Given the description of an element on the screen output the (x, y) to click on. 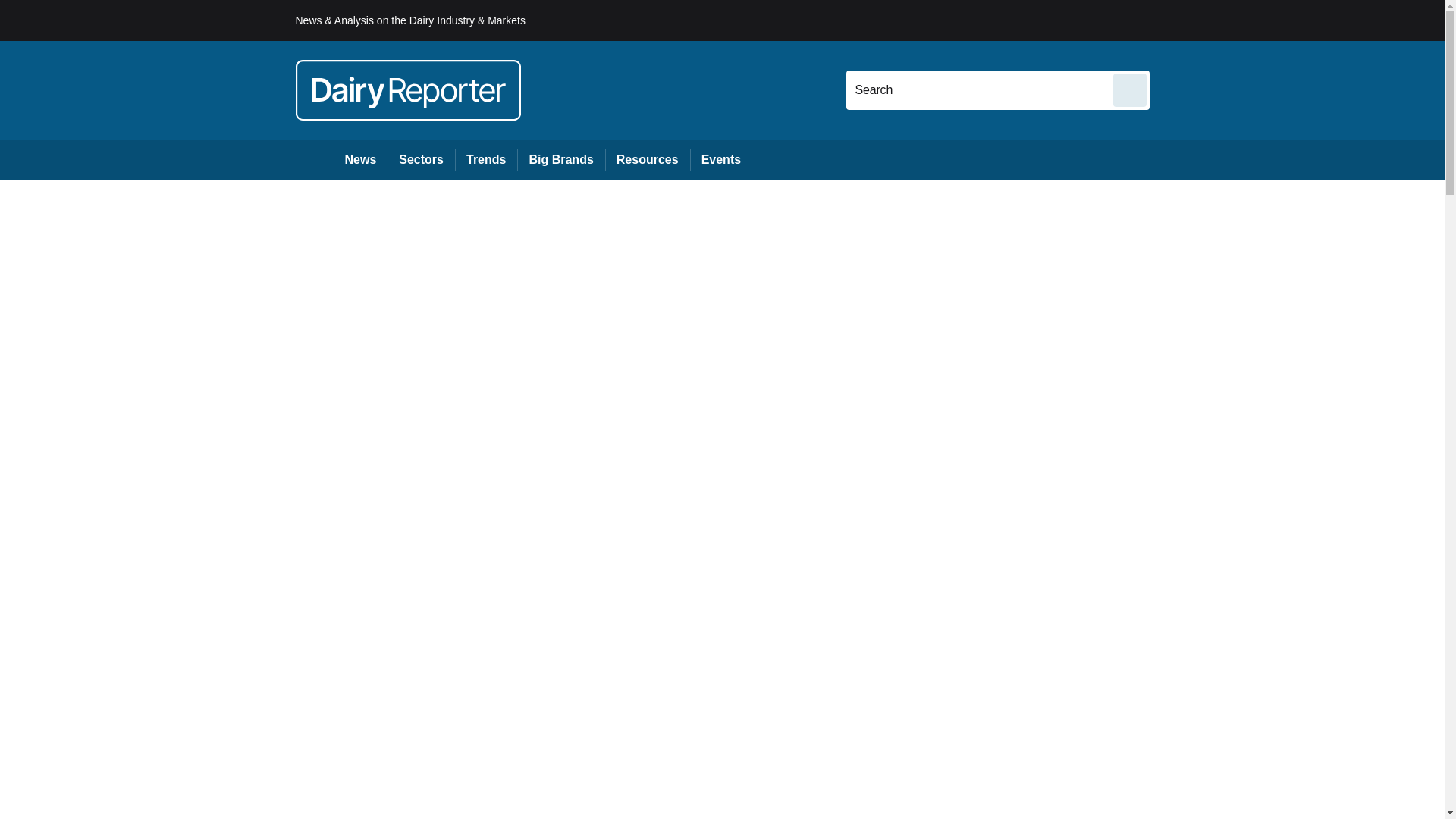
My account (1256, 20)
Send (1129, 90)
Home (314, 159)
REGISTER (1250, 20)
Home (313, 159)
Sectors (420, 159)
Send (1129, 89)
Sign out (1174, 20)
DairyReporter (408, 89)
Sign in (1171, 20)
News (360, 159)
